Given the description of an element on the screen output the (x, y) to click on. 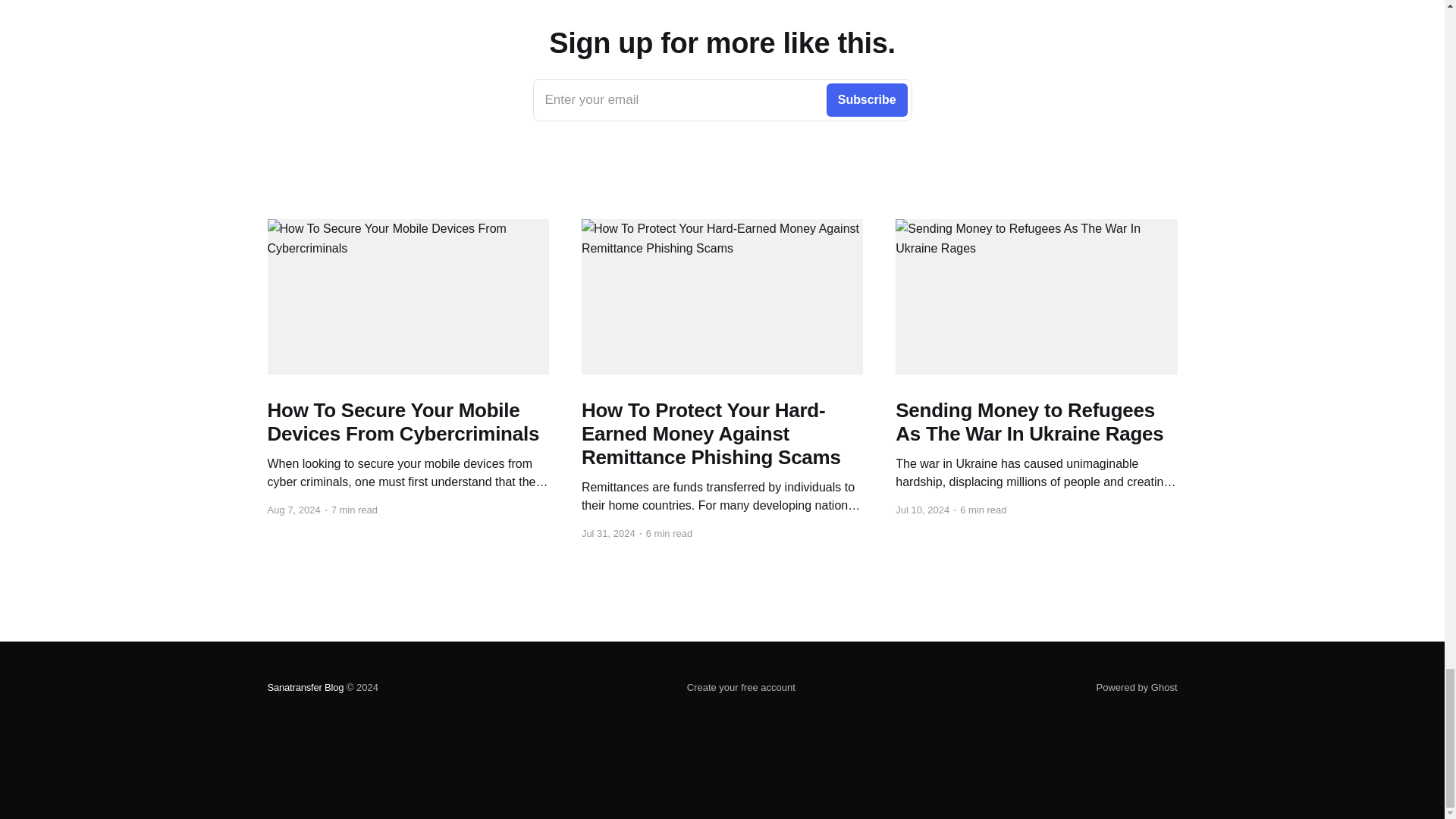
Powered by Ghost (1136, 686)
Sanatransfer Blog (721, 99)
Create your free account (304, 686)
